Given the description of an element on the screen output the (x, y) to click on. 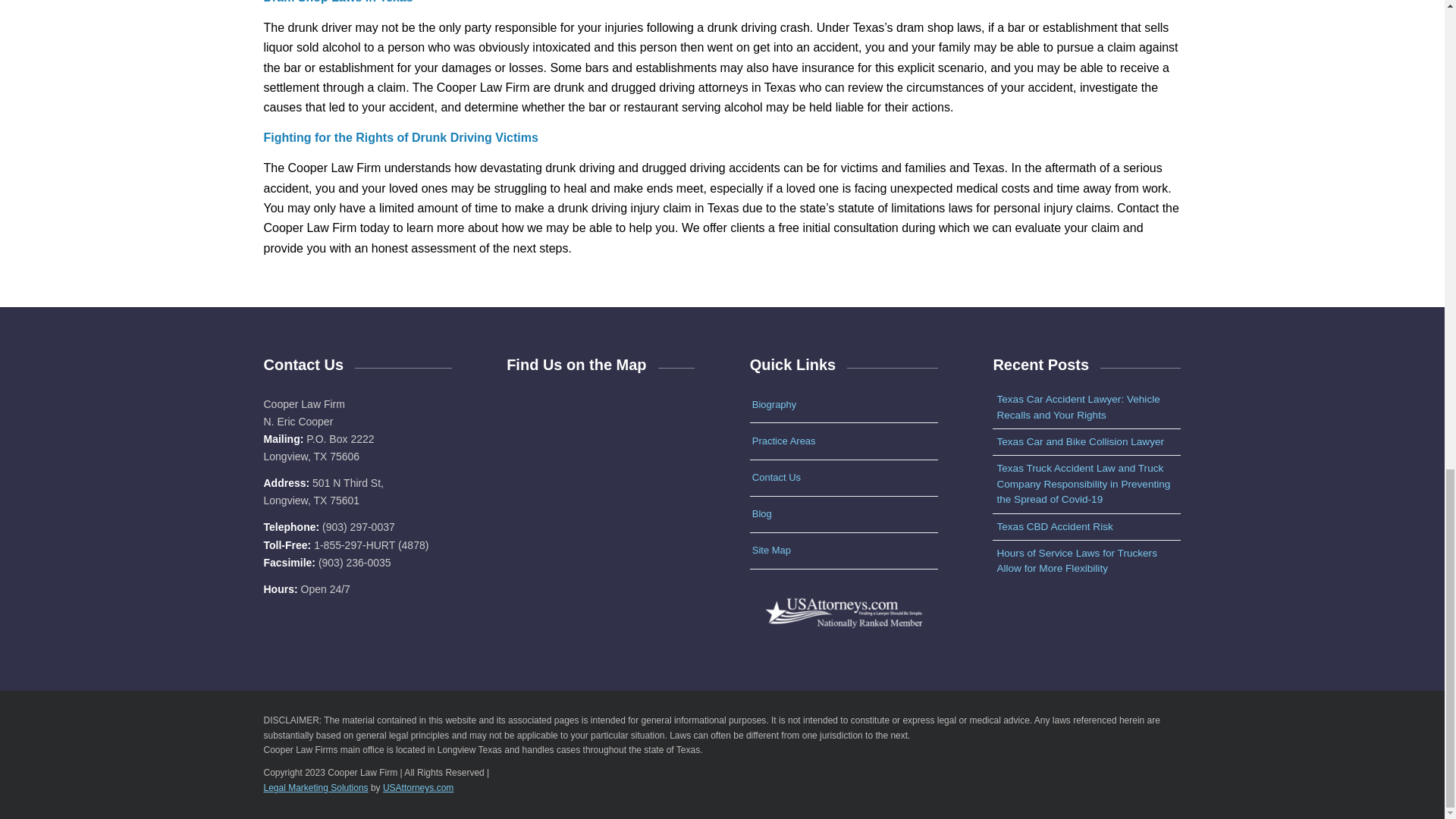
usattorneys-member (843, 610)
Contact Us (843, 478)
Biography (843, 404)
Practice Areas (843, 440)
